Given the description of an element on the screen output the (x, y) to click on. 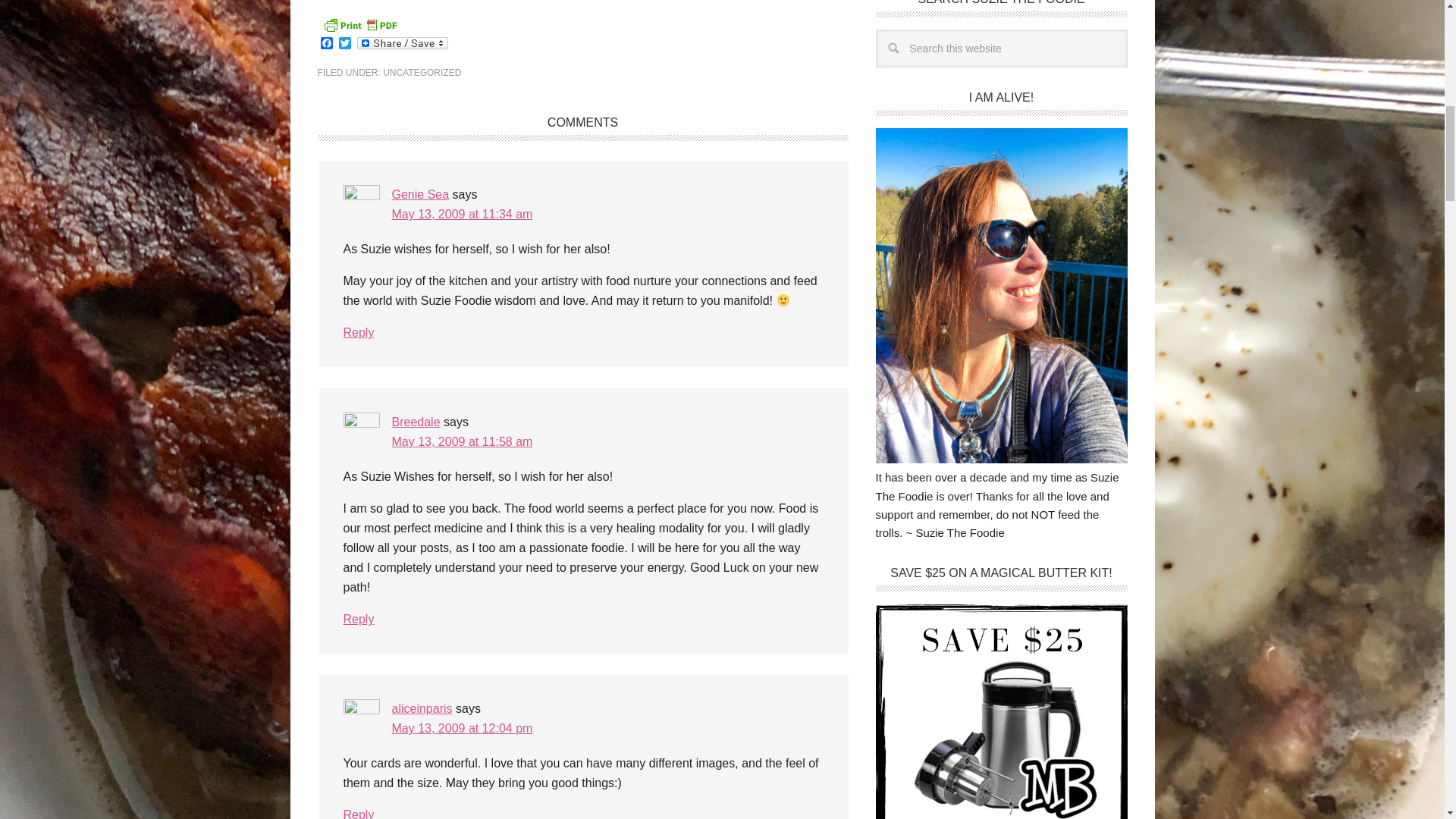
Facebook (325, 43)
May 13, 2009 at 12:04 pm (461, 727)
Twitter (343, 43)
Twitter (343, 43)
Reply (358, 618)
UNCATEGORIZED (421, 72)
Reply (358, 332)
Facebook (325, 43)
Genie Sea (419, 194)
May 13, 2009 at 11:34 am (461, 214)
May 13, 2009 at 11:58 am (461, 440)
Reply (358, 813)
Breedale (415, 421)
